Given the description of an element on the screen output the (x, y) to click on. 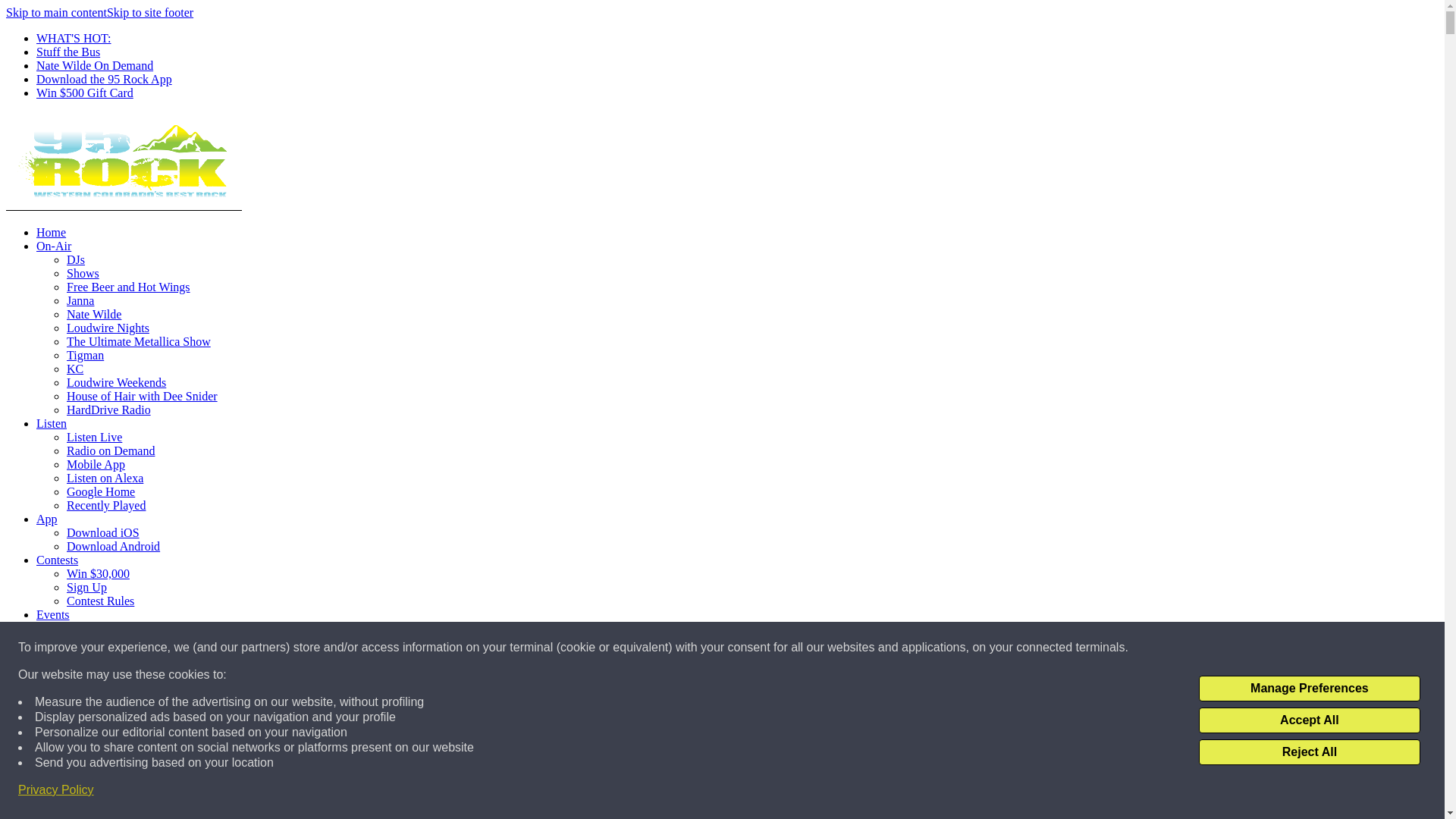
WHAT'S HOT: (74, 38)
Loudwire Weekends (115, 382)
Nate Wilde (93, 314)
Listen (51, 422)
Free Beer and Hot Wings (128, 286)
The Ultimate Metallica Show (138, 341)
Listen Live (94, 436)
Accept All (1309, 720)
Skip to main content (55, 11)
House of Hair with Dee Snider (141, 395)
Google Home (100, 491)
Loudwire Nights (107, 327)
Manage Preferences (1309, 688)
Skip to site footer (149, 11)
Contests (57, 559)
